Given the description of an element on the screen output the (x, y) to click on. 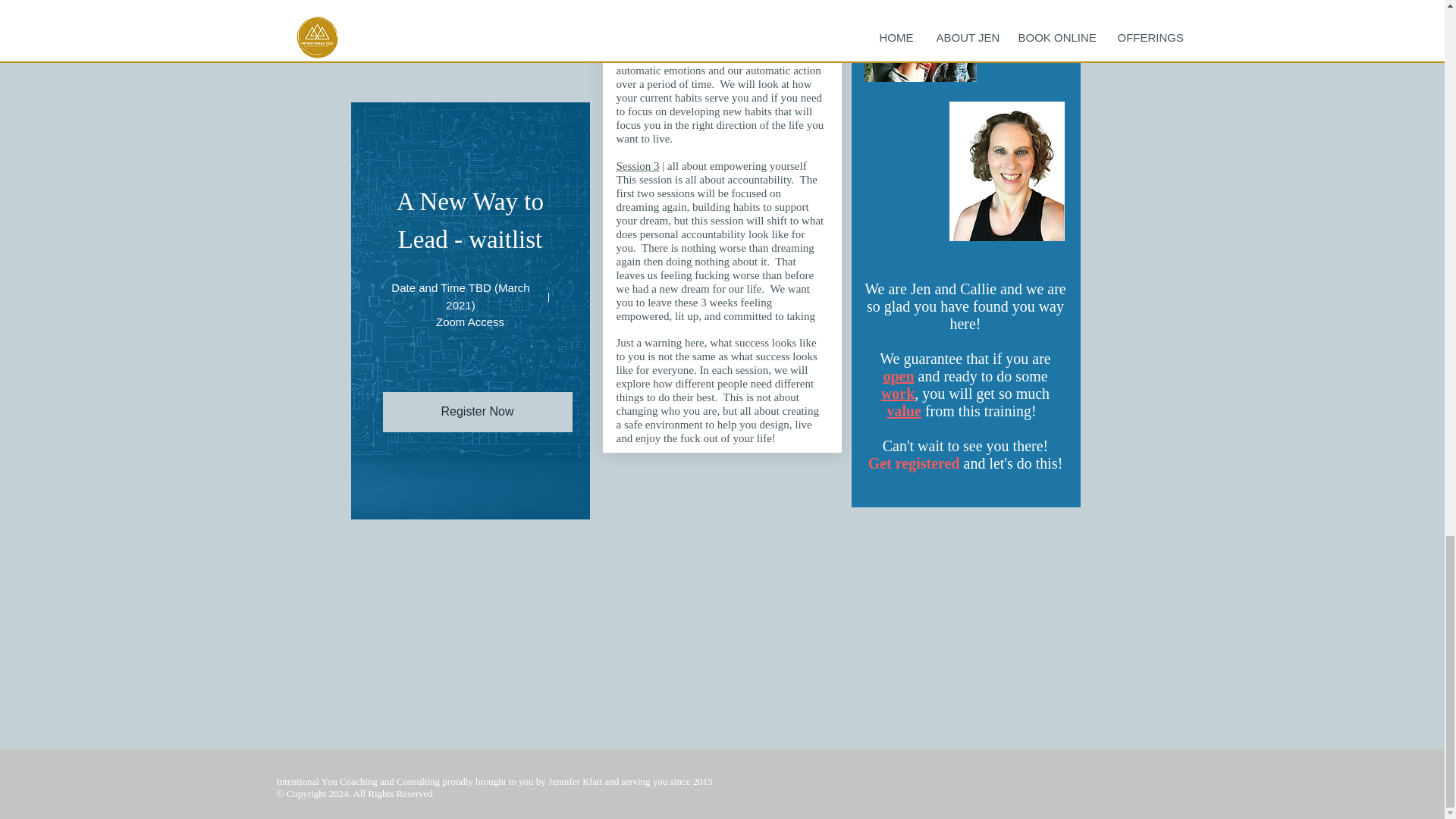
Register Now (476, 411)
A New Way to Lead - waitlist (473, 220)
